Given the description of an element on the screen output the (x, y) to click on. 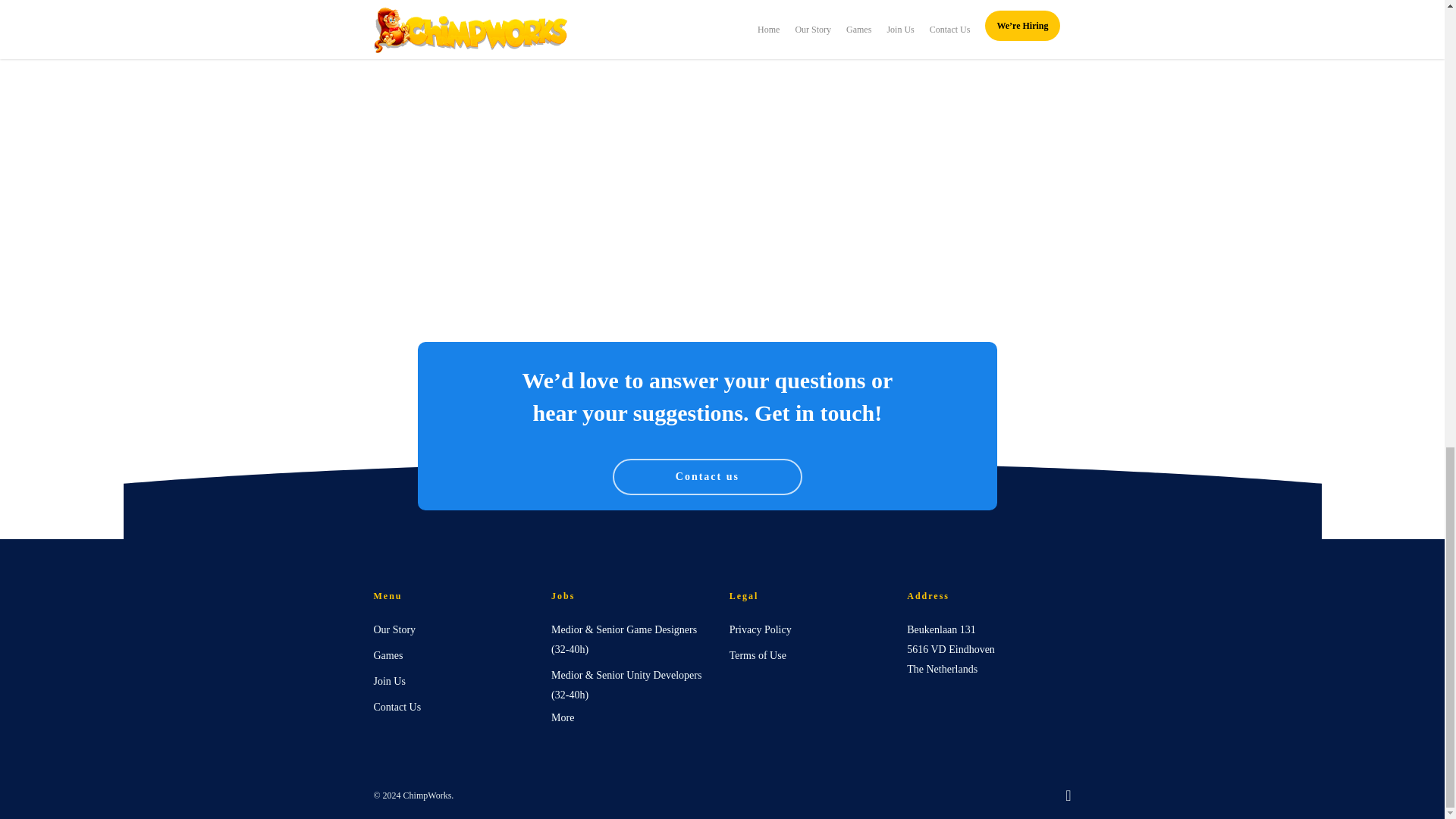
Contact Us (454, 707)
Join Us (454, 681)
Our Story (454, 629)
Games (454, 655)
Contact us (707, 476)
Privacy Policy (811, 629)
Terms of Use (811, 655)
More (562, 717)
